Given the description of an element on the screen output the (x, y) to click on. 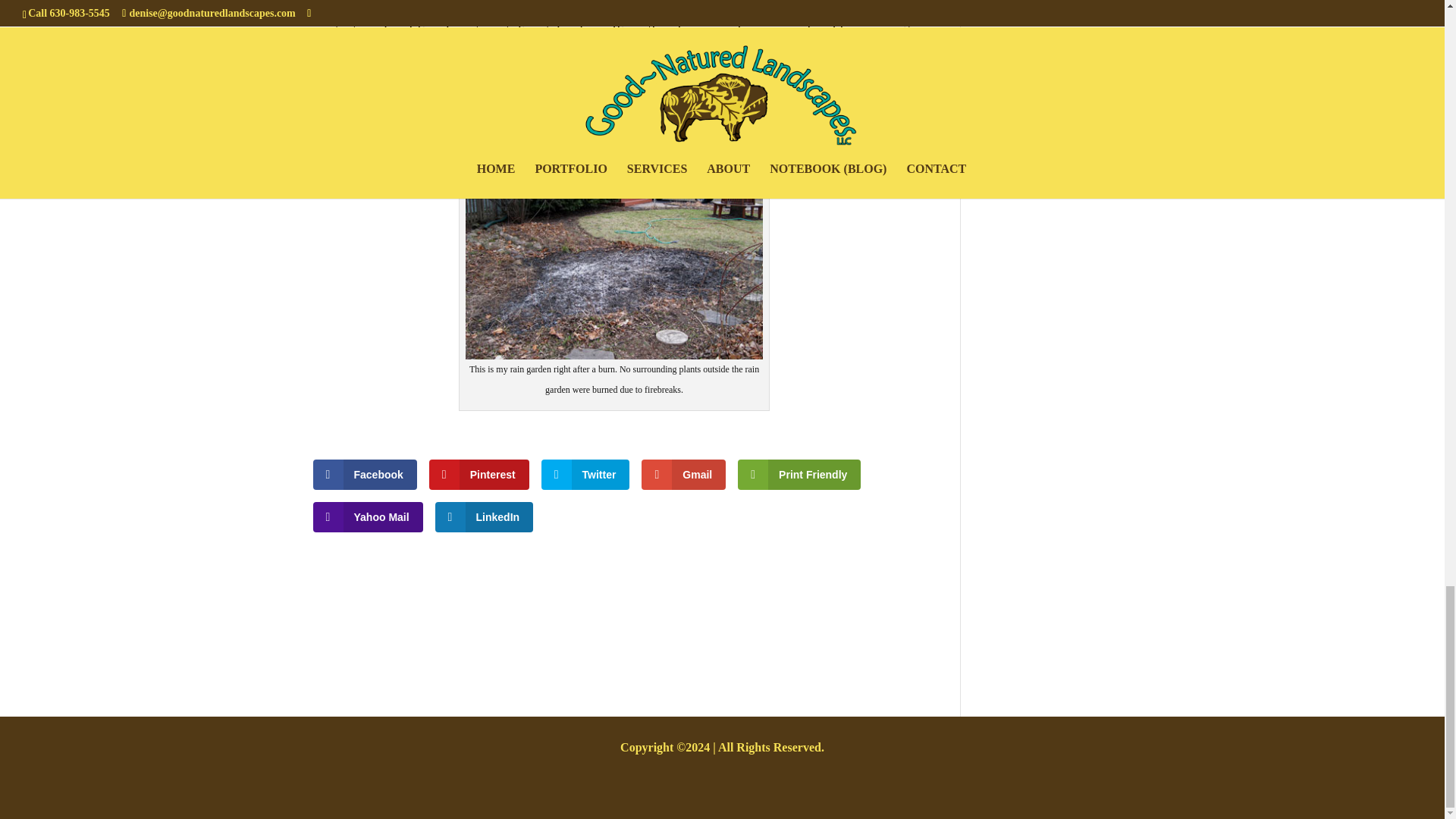
LinkedIn (484, 517)
Facebook (364, 474)
Twitter (585, 474)
Yahoo Mail (367, 517)
Pinterest (479, 474)
Print Friendly (799, 474)
Gmail (683, 474)
